Given the description of an element on the screen output the (x, y) to click on. 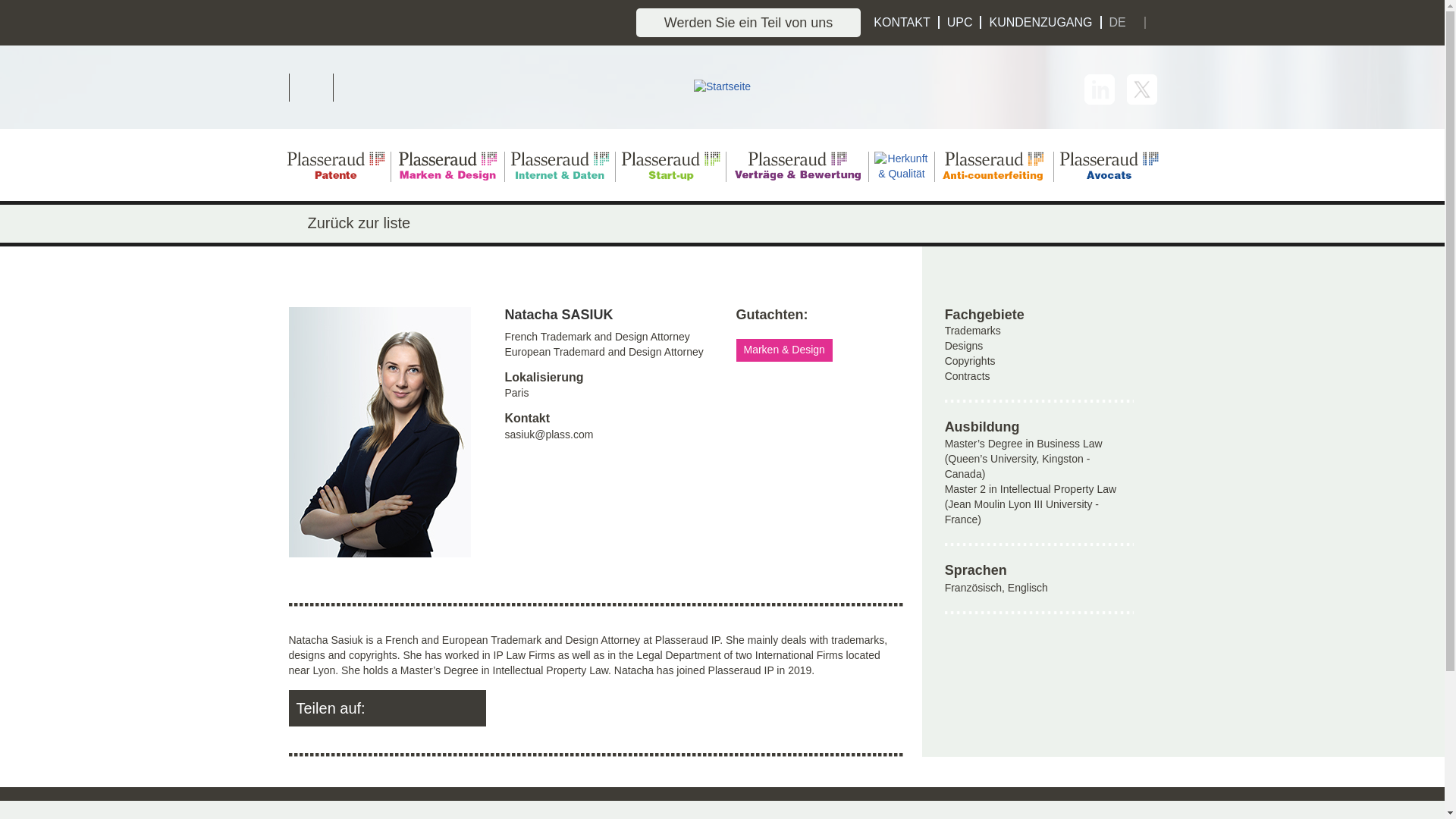
KONTAKT (902, 21)
Werden Sie ein Teil von uns (748, 22)
Startseite (722, 86)
UPC (960, 21)
